Given the description of an element on the screen output the (x, y) to click on. 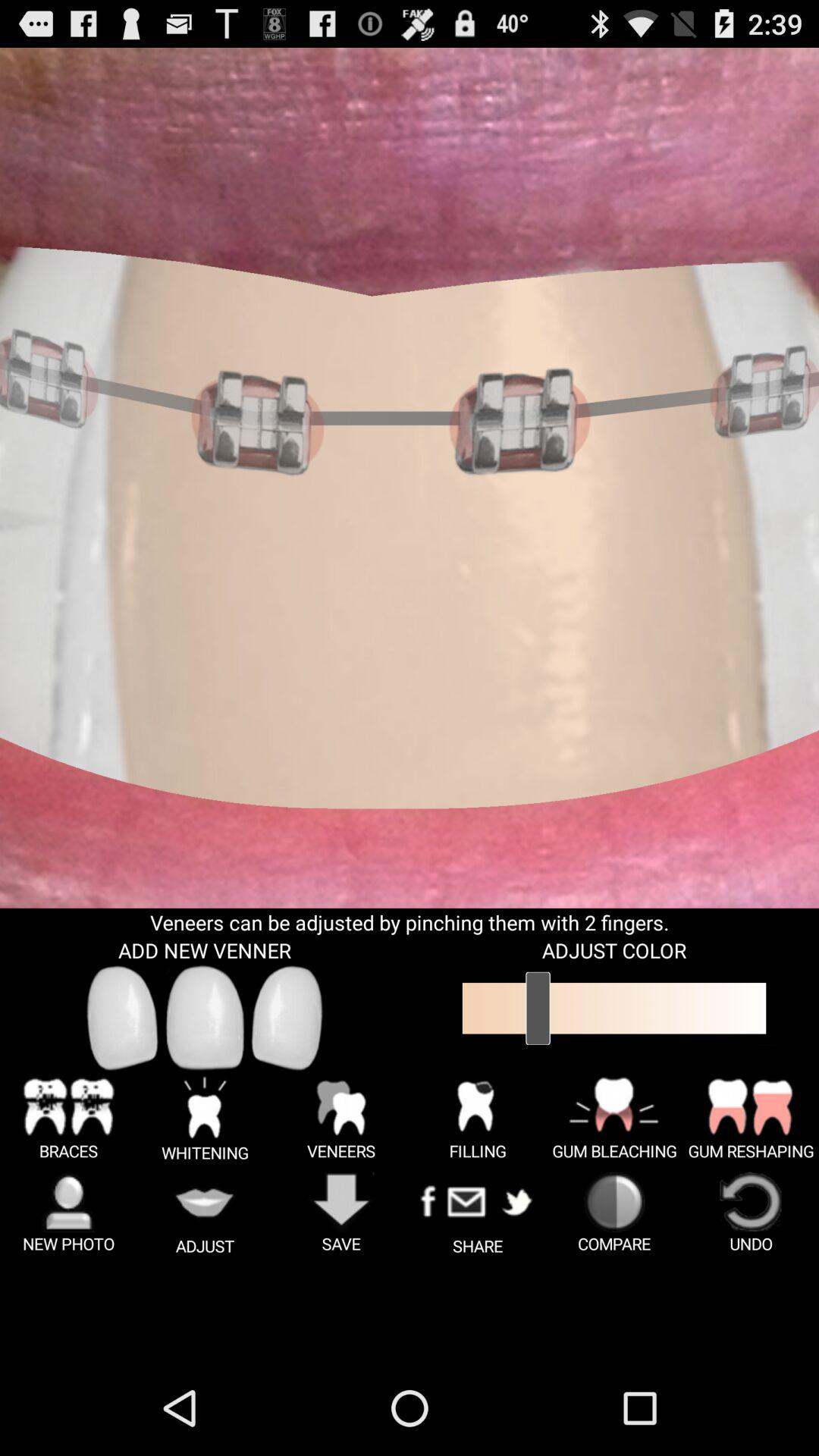
add new veneer (287, 1017)
